Given the description of an element on the screen output the (x, y) to click on. 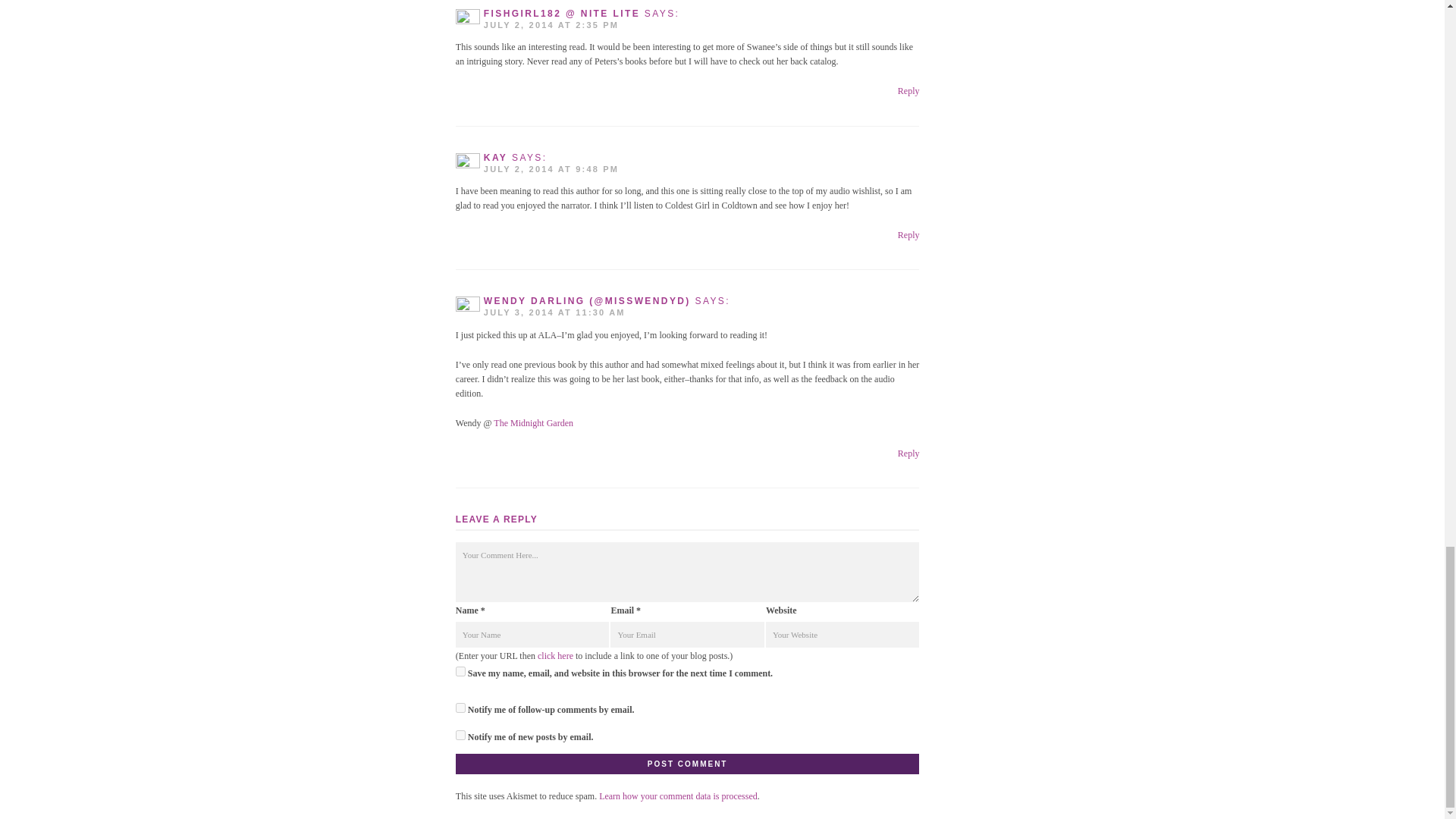
subscribe (460, 735)
Post Comment (687, 763)
yes (460, 671)
subscribe (460, 707)
